Given the description of an element on the screen output the (x, y) to click on. 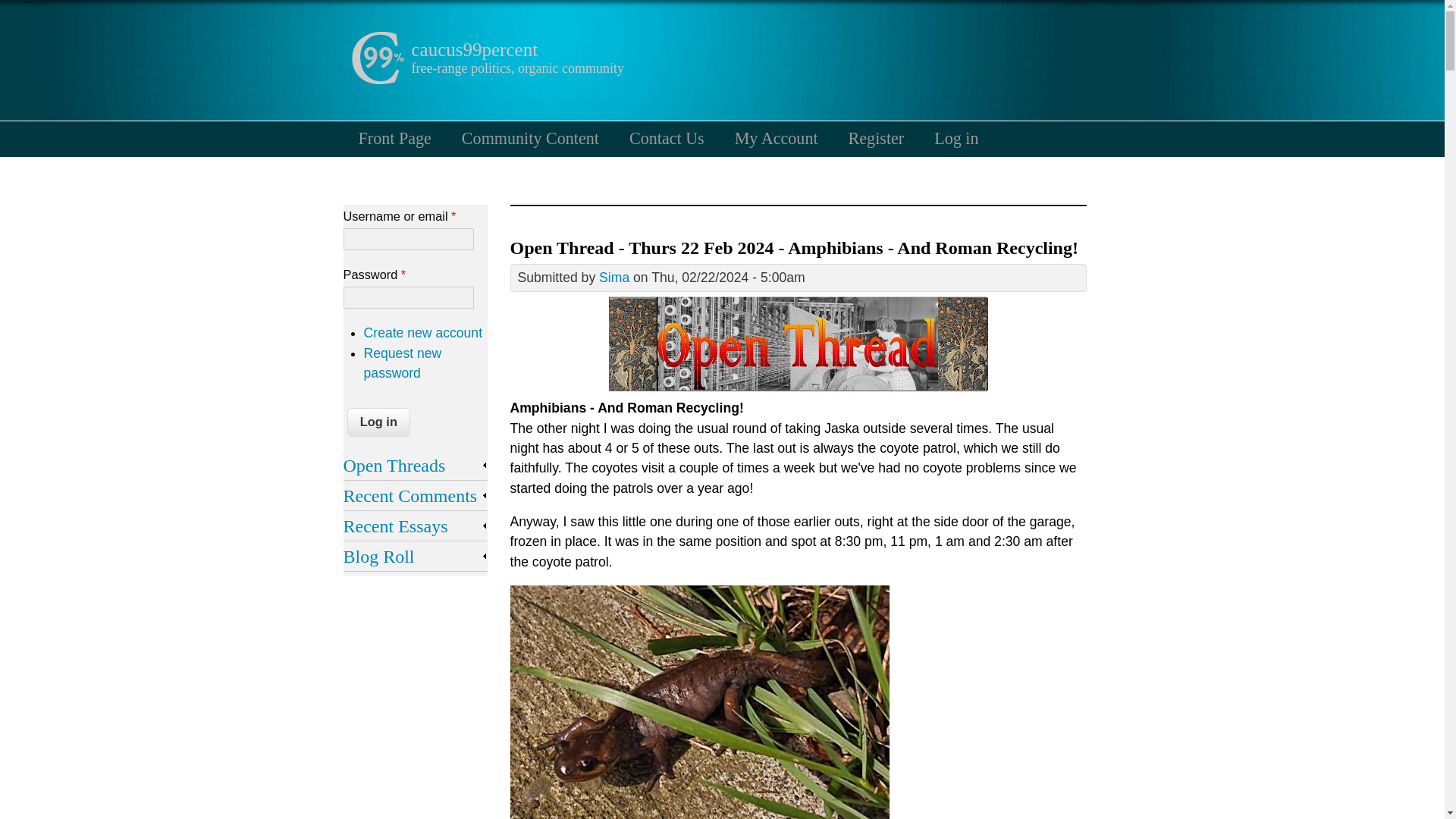
Home (473, 49)
Front Page Featured Editorials (393, 138)
Log in (955, 138)
Sima (613, 277)
Front Page (393, 138)
Contact Us (666, 138)
Contact the Administrator (666, 138)
Log in (378, 421)
caucus99percent (473, 49)
Register (876, 138)
My Account (775, 138)
Community Content (530, 138)
View user profile. (613, 277)
Home (376, 79)
My personal user account (775, 138)
